Given the description of an element on the screen output the (x, y) to click on. 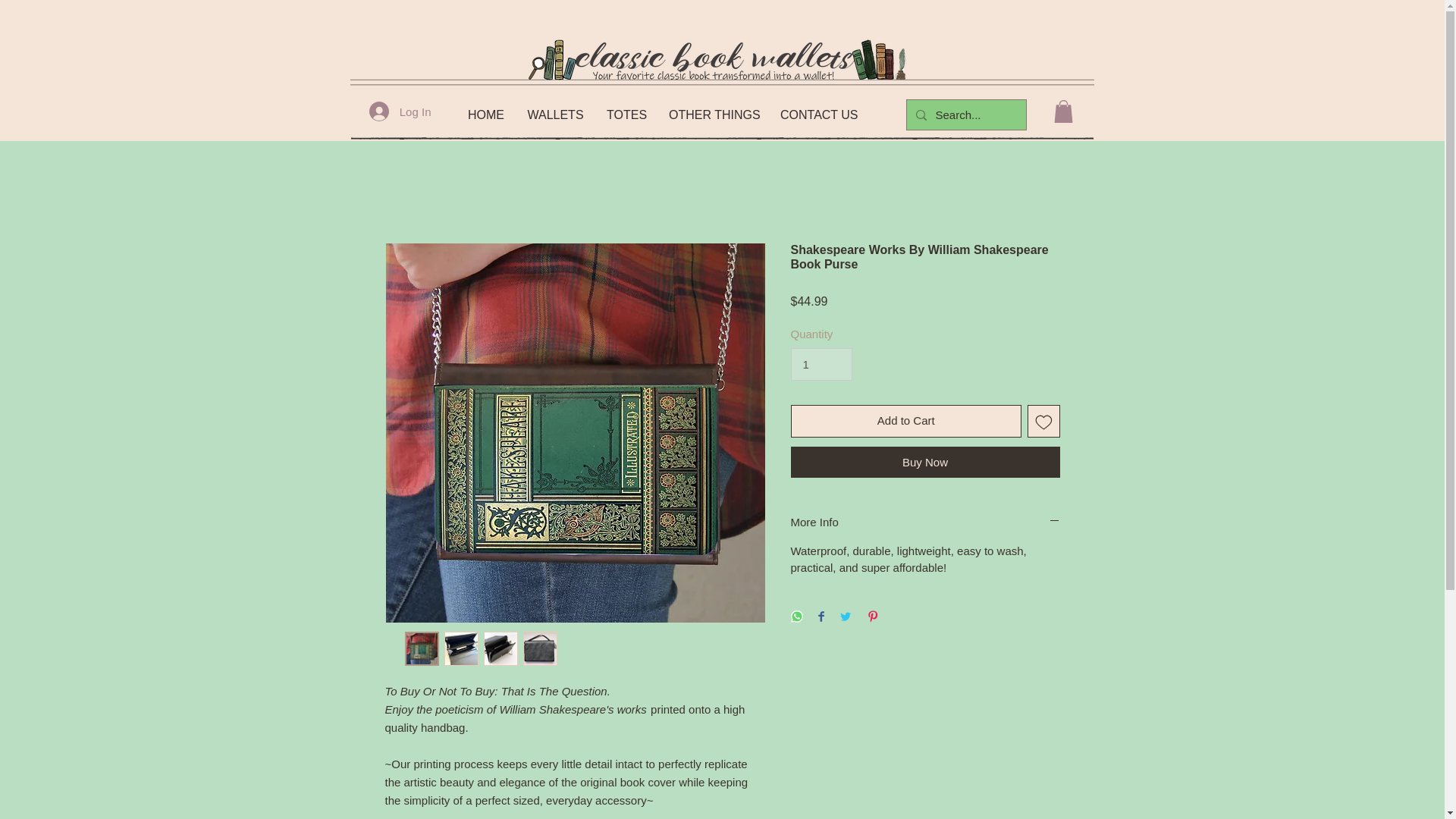
TOTES (626, 115)
Add to Cart (906, 420)
OTHER THINGS (713, 115)
CONTACT US (818, 115)
HOME (486, 115)
More Info (924, 521)
Buy Now (924, 461)
WALLETS (555, 115)
1 (820, 364)
Log In (400, 111)
